Given the description of an element on the screen output the (x, y) to click on. 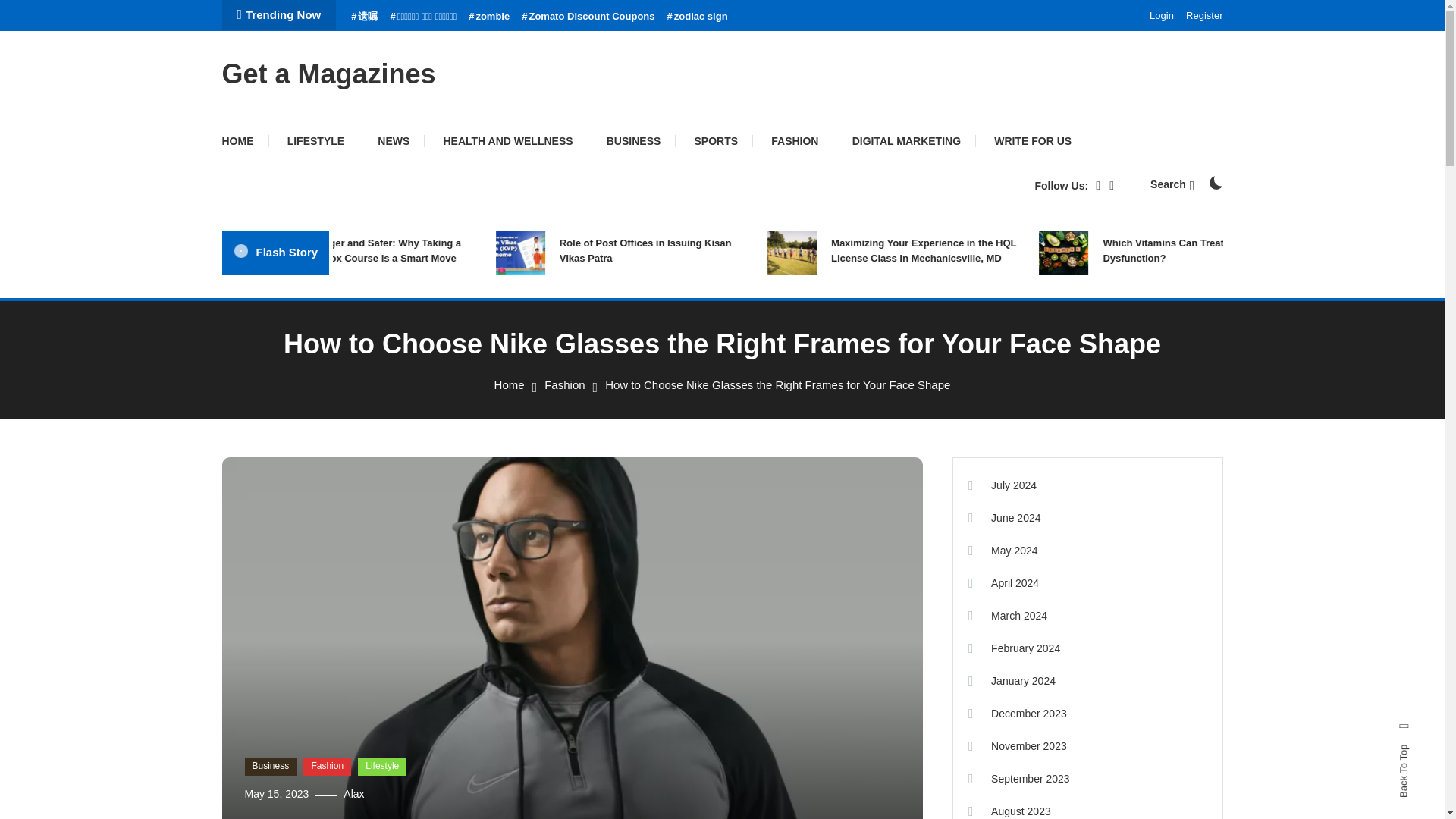
LIFESTYLE (315, 140)
WRITE FOR US (1032, 140)
Role of Post Offices in Issuing Kisan Vikas Patra (763, 250)
HEALTH AND WELLNESS (508, 140)
FASHION (793, 140)
zodiac sign (697, 16)
NEWS (393, 140)
HOME (244, 140)
Get a Magazines (328, 73)
